Given the description of an element on the screen output the (x, y) to click on. 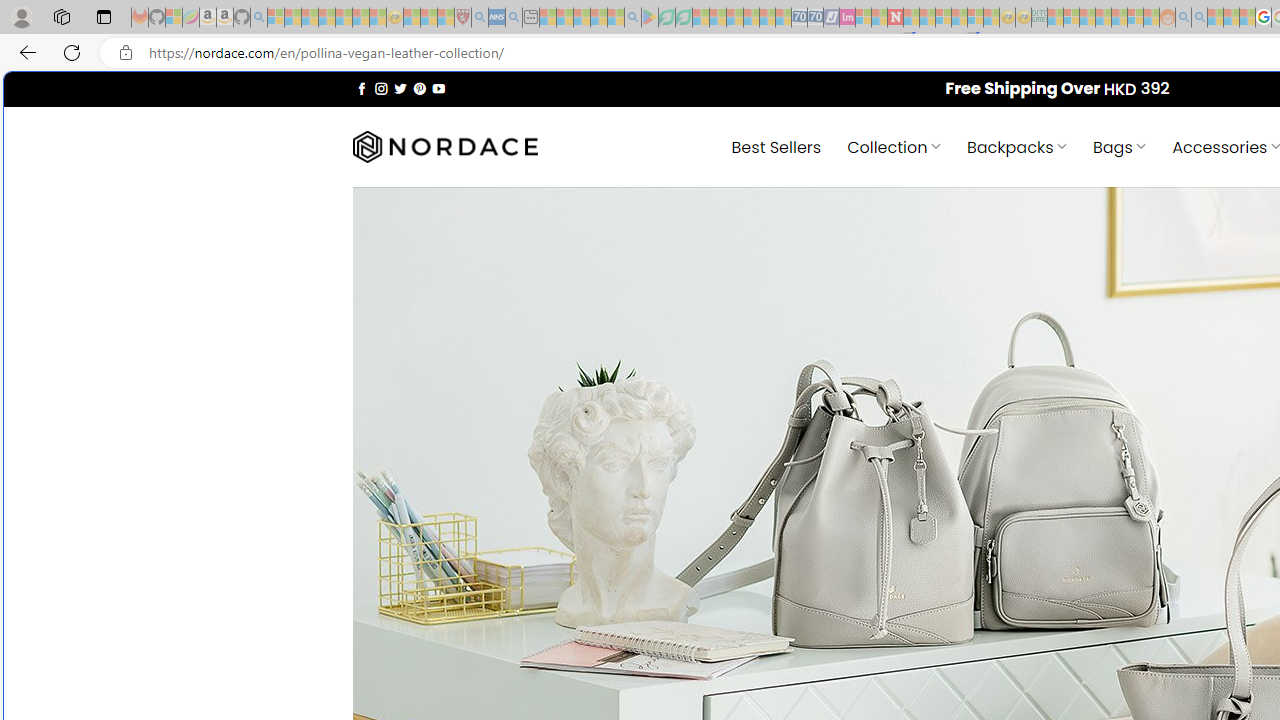
Kinda Frugal - MSN - Sleeping (1119, 17)
google - Search - Sleeping (632, 17)
